Given the description of an element on the screen output the (x, y) to click on. 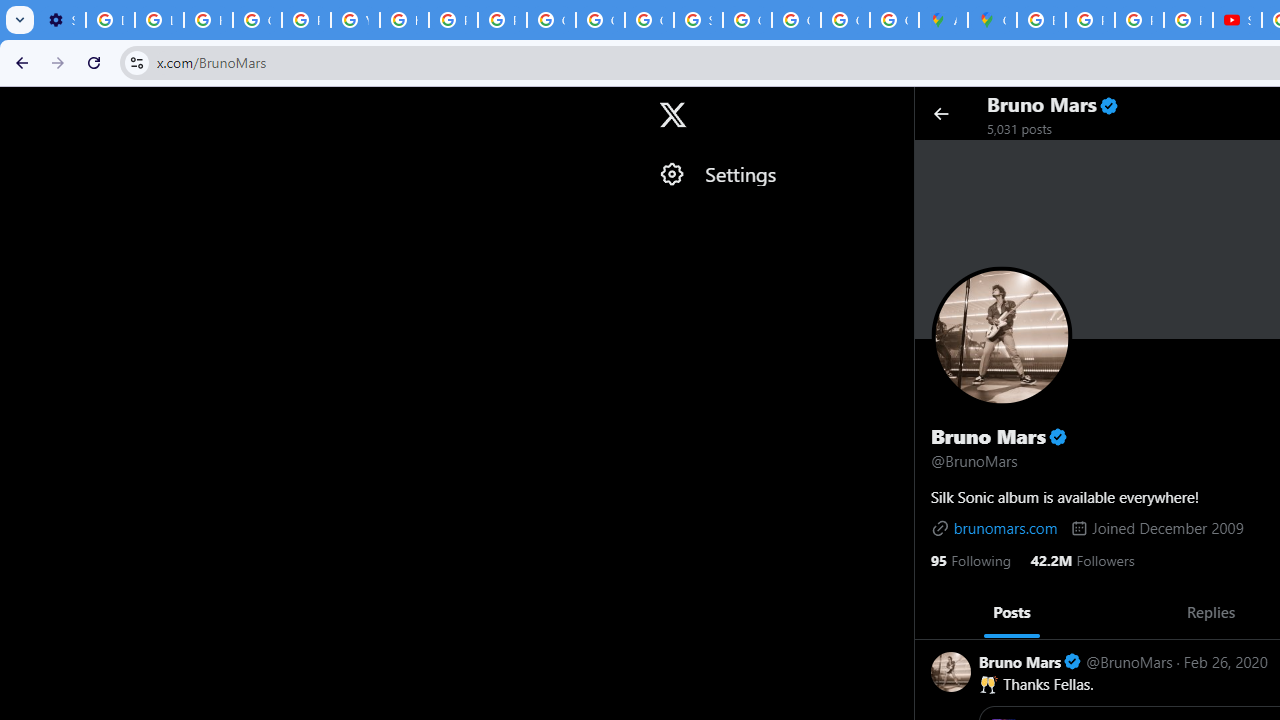
Sign in - Google Accounts (698, 20)
Google Maps (992, 20)
YouTube (355, 20)
Privacy Help Center - Policies Help (306, 20)
Settings (776, 173)
Privacy Help Center - Policies Help (1090, 20)
Privacy Help Center - Policies Help (1138, 20)
System (10, 11)
View site information (136, 62)
X (672, 115)
